Given the description of an element on the screen output the (x, y) to click on. 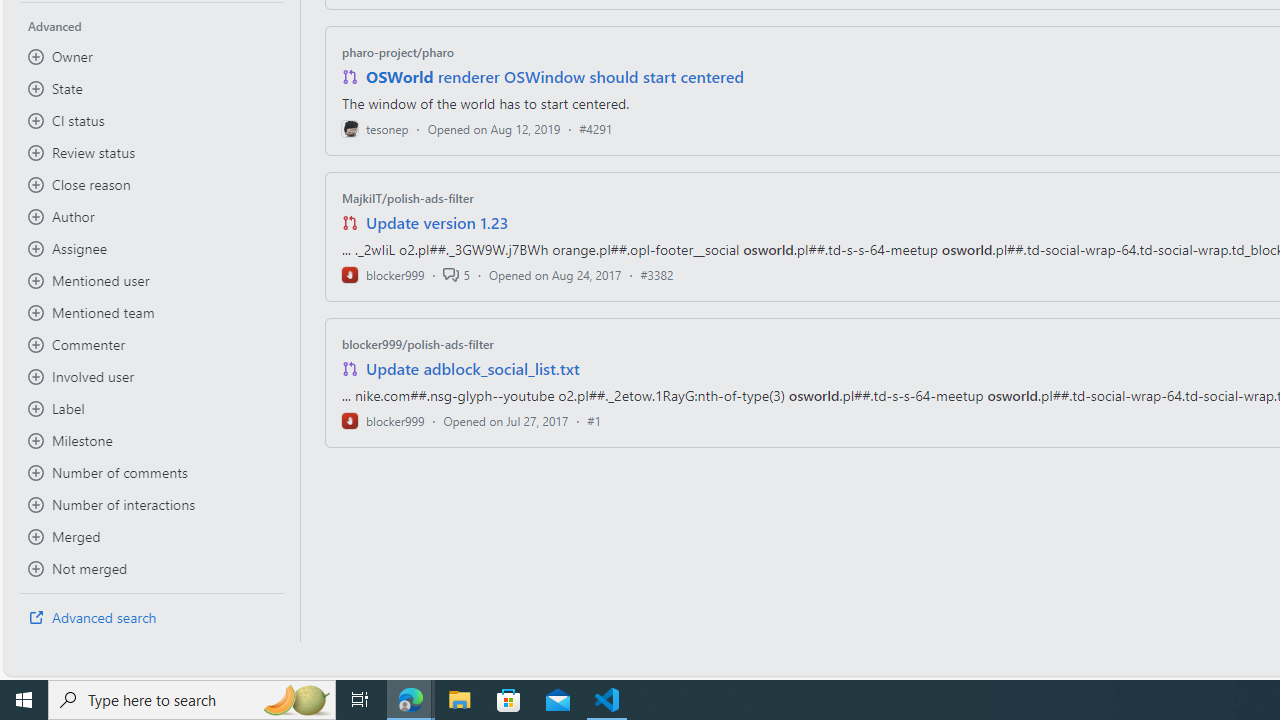
tesonep (375, 128)
blocker999 (382, 420)
#4291 (595, 128)
pharo-project/pharo (397, 52)
Advanced search (152, 617)
